Given the description of an element on the screen output the (x, y) to click on. 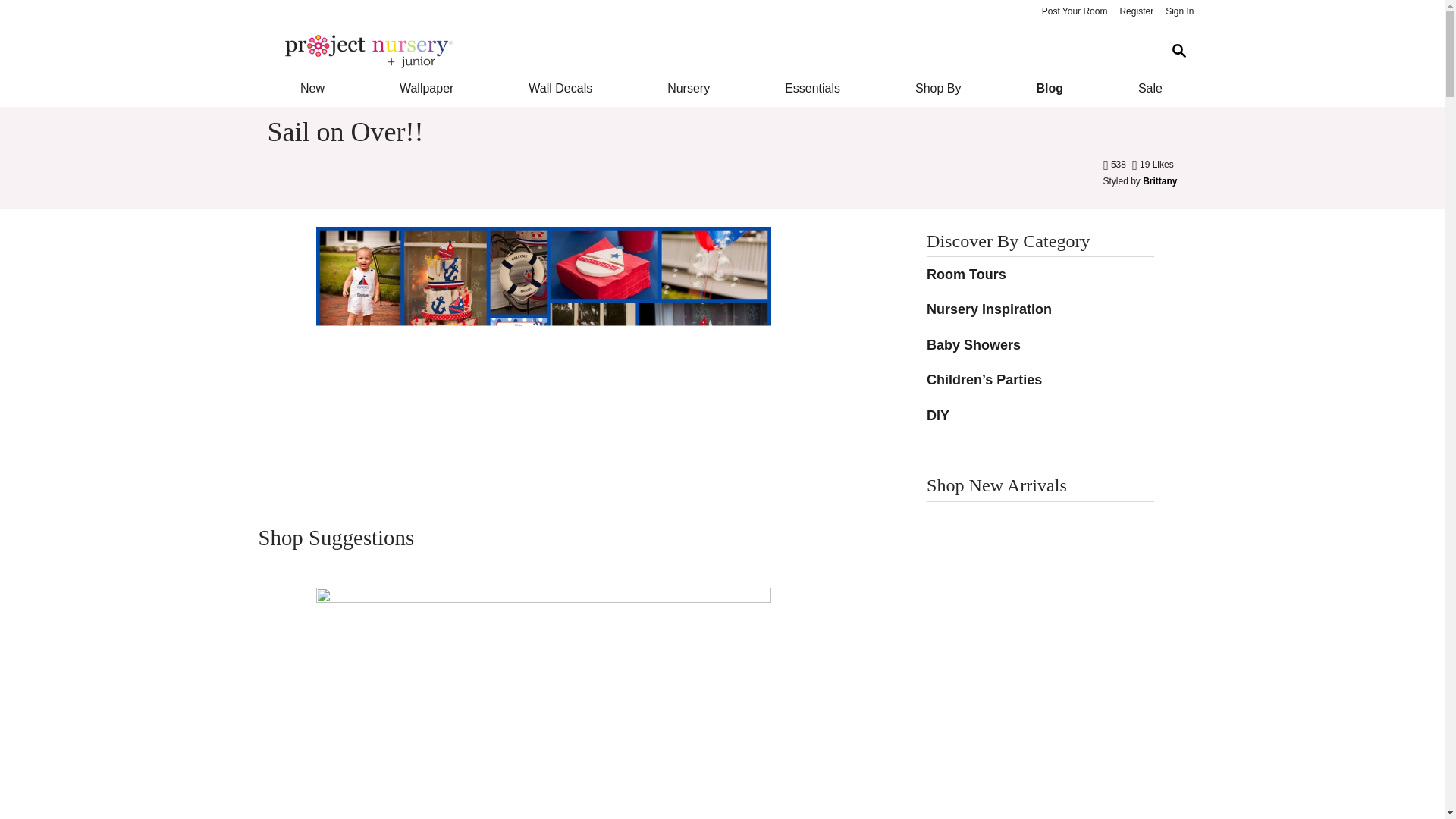
Register (1135, 11)
Search (1178, 50)
Post Your Room (1074, 11)
New (311, 88)
Nursery (689, 88)
Views (1115, 163)
Wallpaper (425, 88)
Post Your Room (1074, 11)
Sign In (1178, 11)
Project Nursery (709, 51)
Wall Decals (561, 88)
